Given the description of an element on the screen output the (x, y) to click on. 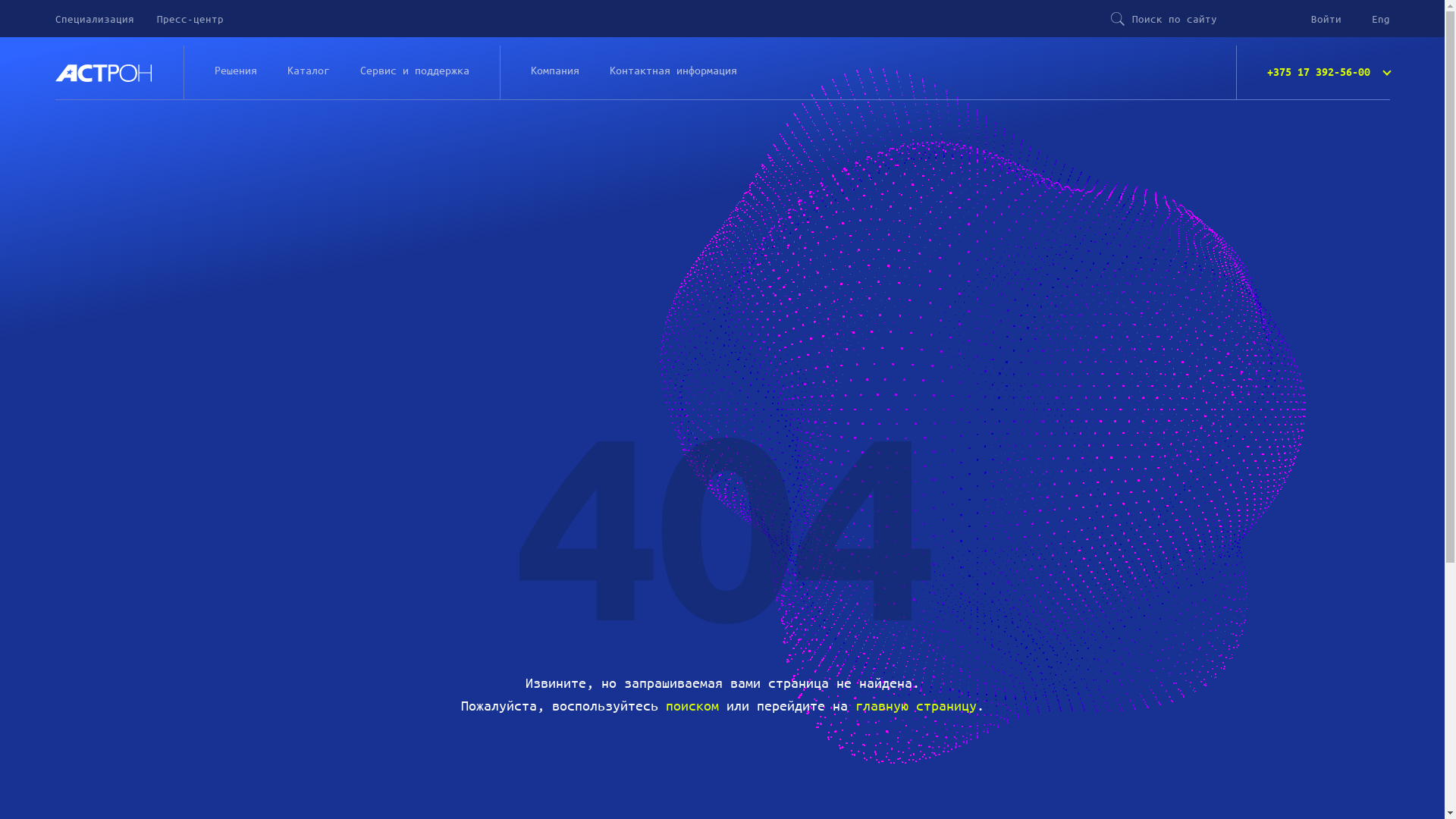
Eng Element type: text (1380, 18)
